Given the description of an element on the screen output the (x, y) to click on. 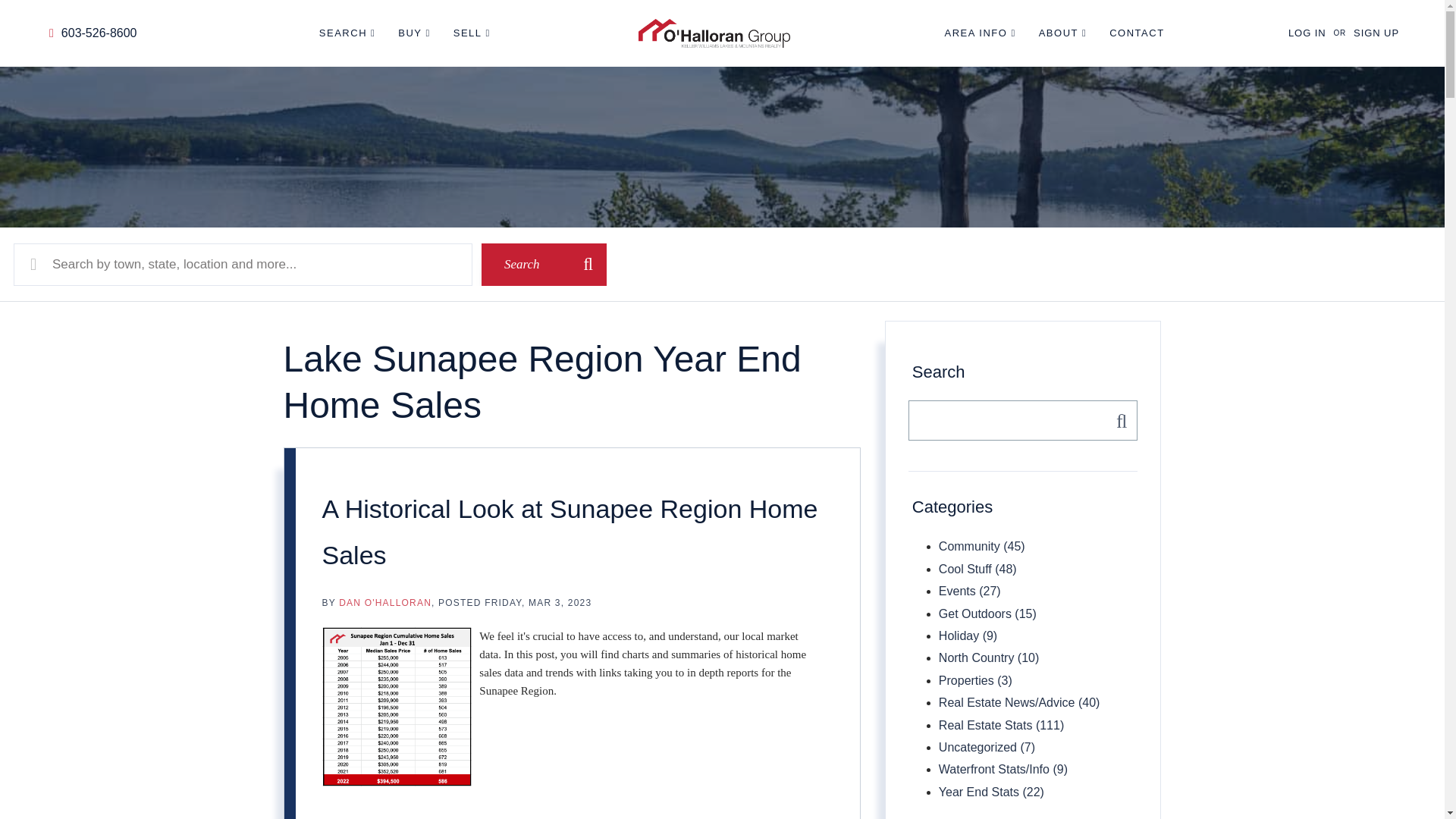
BUY (413, 33)
Search (1117, 420)
SELL (471, 33)
ABOUT (1063, 33)
AREA INFO (980, 33)
SEARCH (346, 33)
603-526-8600 (92, 32)
